Given the description of an element on the screen output the (x, y) to click on. 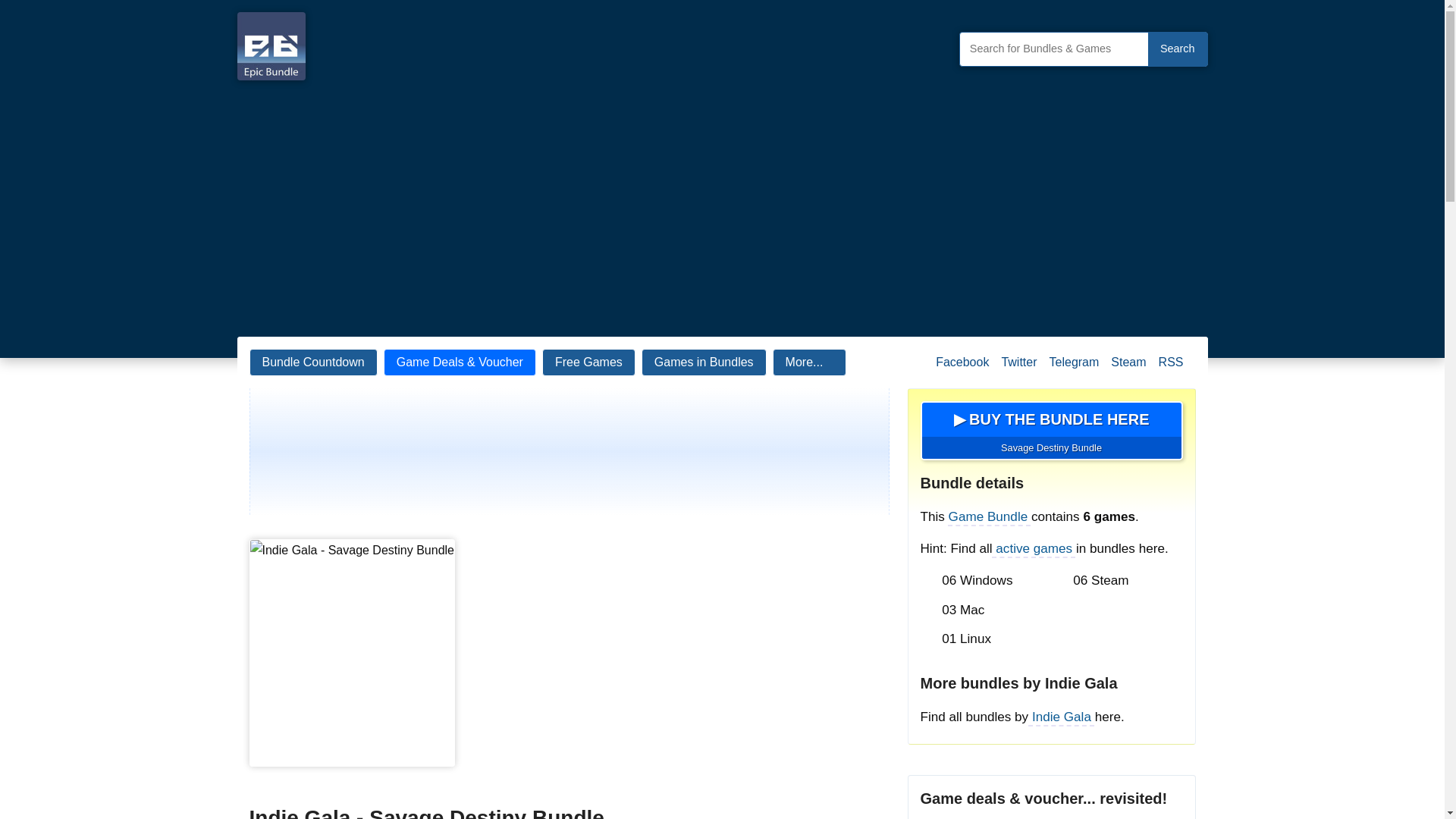
RSS (1171, 368)
Facebook (962, 368)
Show all active games in bundles (1033, 548)
Free Games (587, 361)
Telegram (1074, 368)
Search (1177, 49)
Steam (1128, 368)
Games in Bundles (704, 361)
More... (810, 361)
Twitter (1018, 368)
Search (1177, 49)
Bundle Countdown (312, 361)
